Given the description of an element on the screen output the (x, y) to click on. 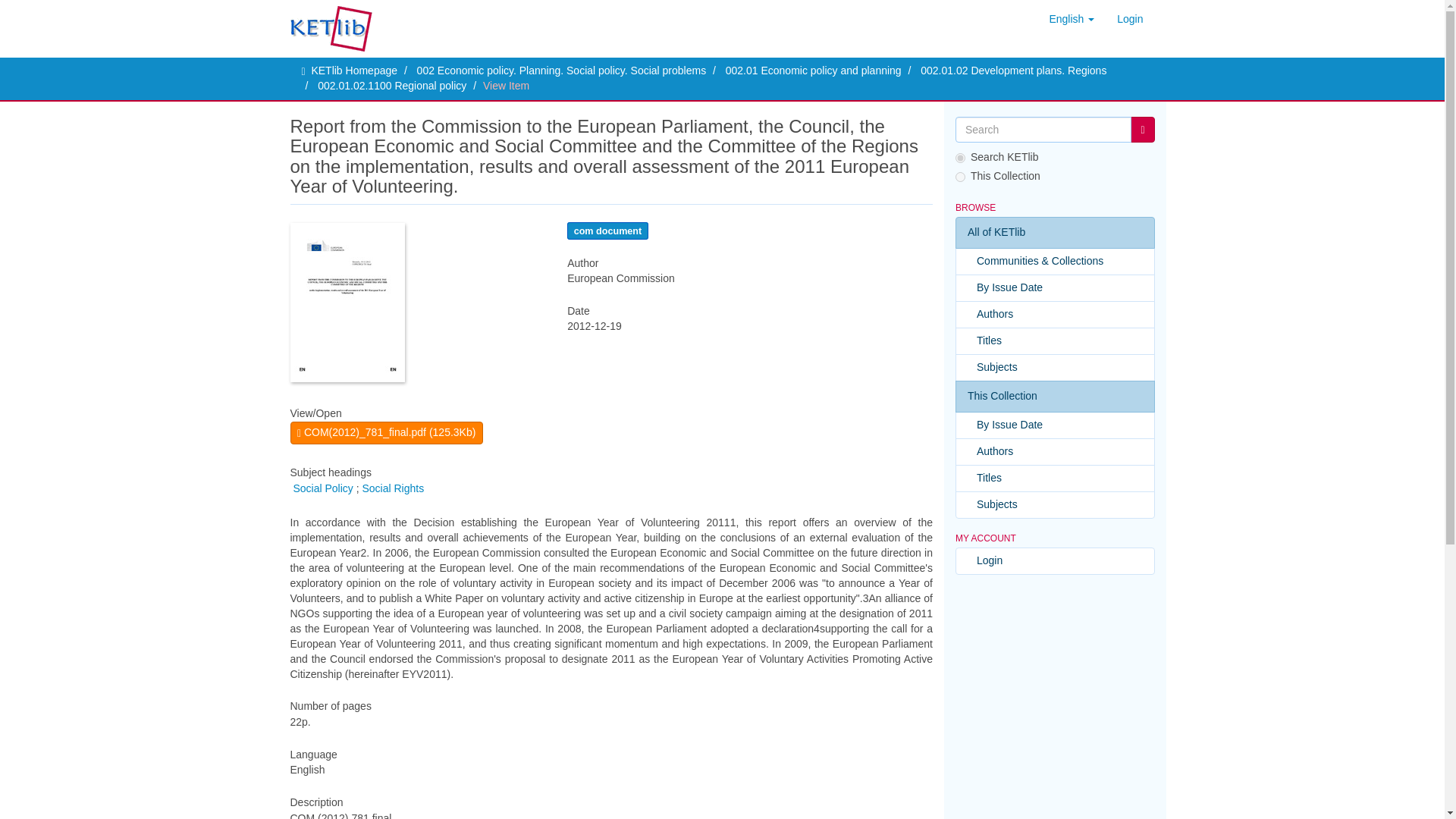
English  (1070, 18)
002.01.02.1100 Regional policy (391, 85)
Go (1142, 129)
KETlib Homepage (354, 70)
Authors (1054, 314)
002.01.02 Development plans. Regions (1013, 70)
Social Policy (322, 488)
002.01 Economic policy and planning (813, 70)
Titles (1054, 340)
By Issue Date (1054, 288)
Social Rights (392, 488)
All of KETlib (1054, 232)
Login (1129, 18)
